Given the description of an element on the screen output the (x, y) to click on. 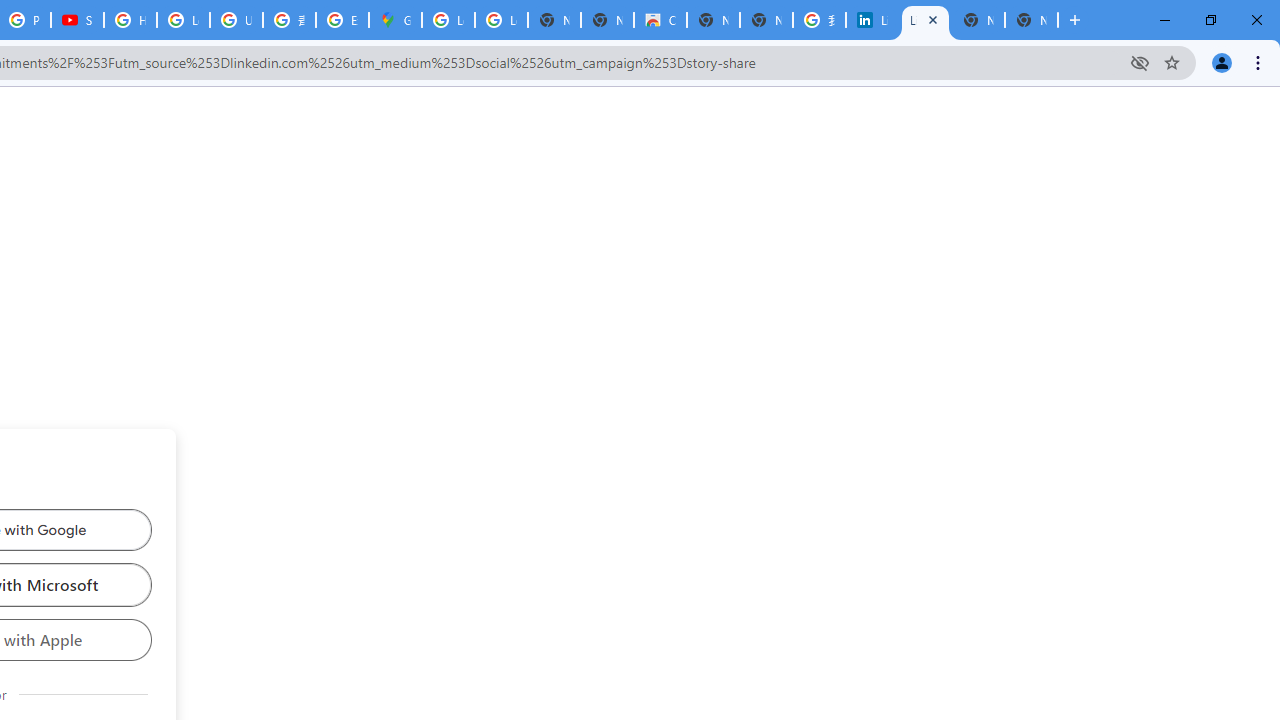
LinkedIn Login, Sign in | LinkedIn (872, 20)
How Chrome protects your passwords - Google Chrome Help (130, 20)
Explore new street-level details - Google Maps Help (342, 20)
LinkedIn Login, Sign in | LinkedIn (925, 20)
